Given the description of an element on the screen output the (x, y) to click on. 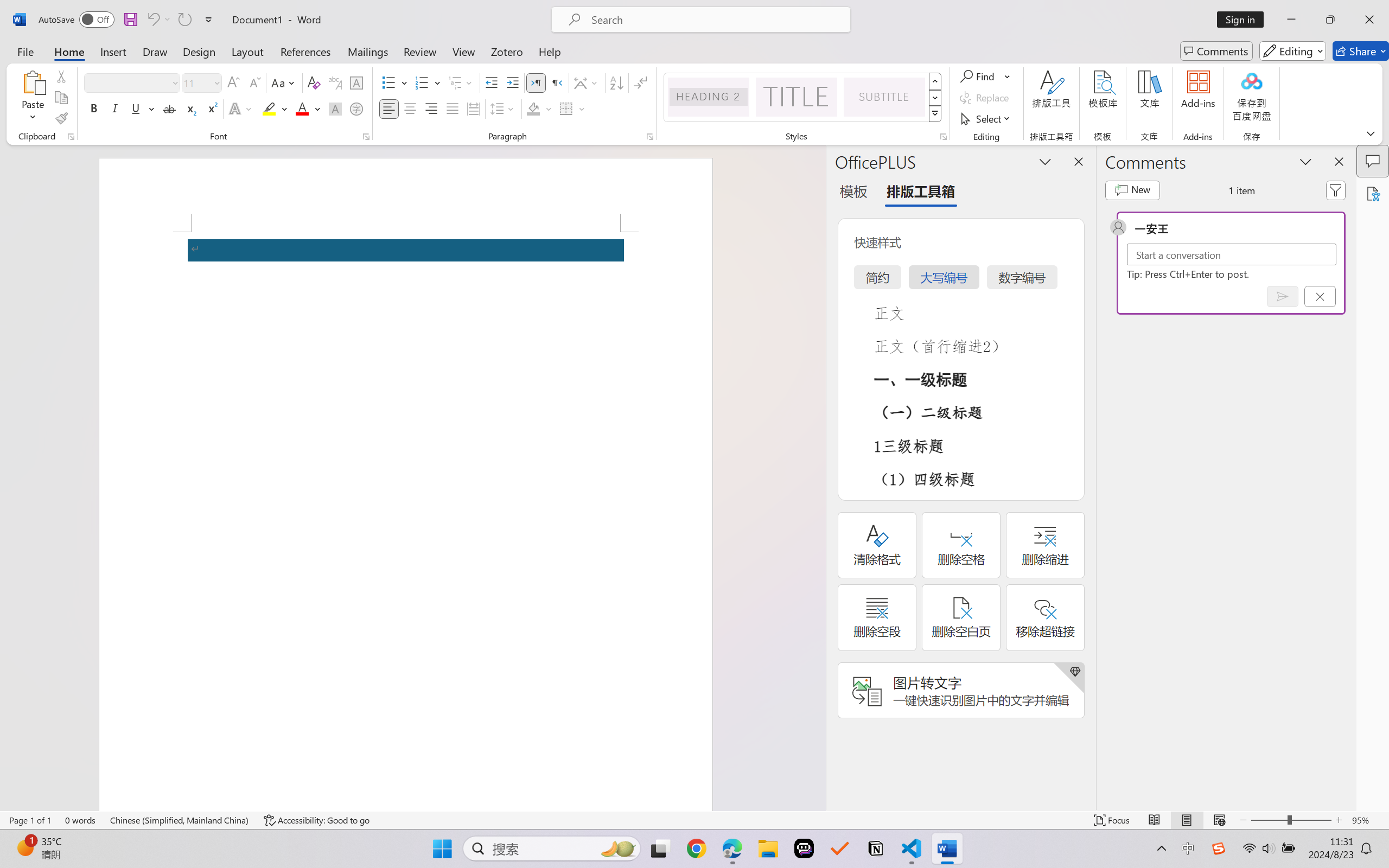
Cancel (1320, 296)
Right-to-Left (556, 82)
